Given the description of an element on the screen output the (x, y) to click on. 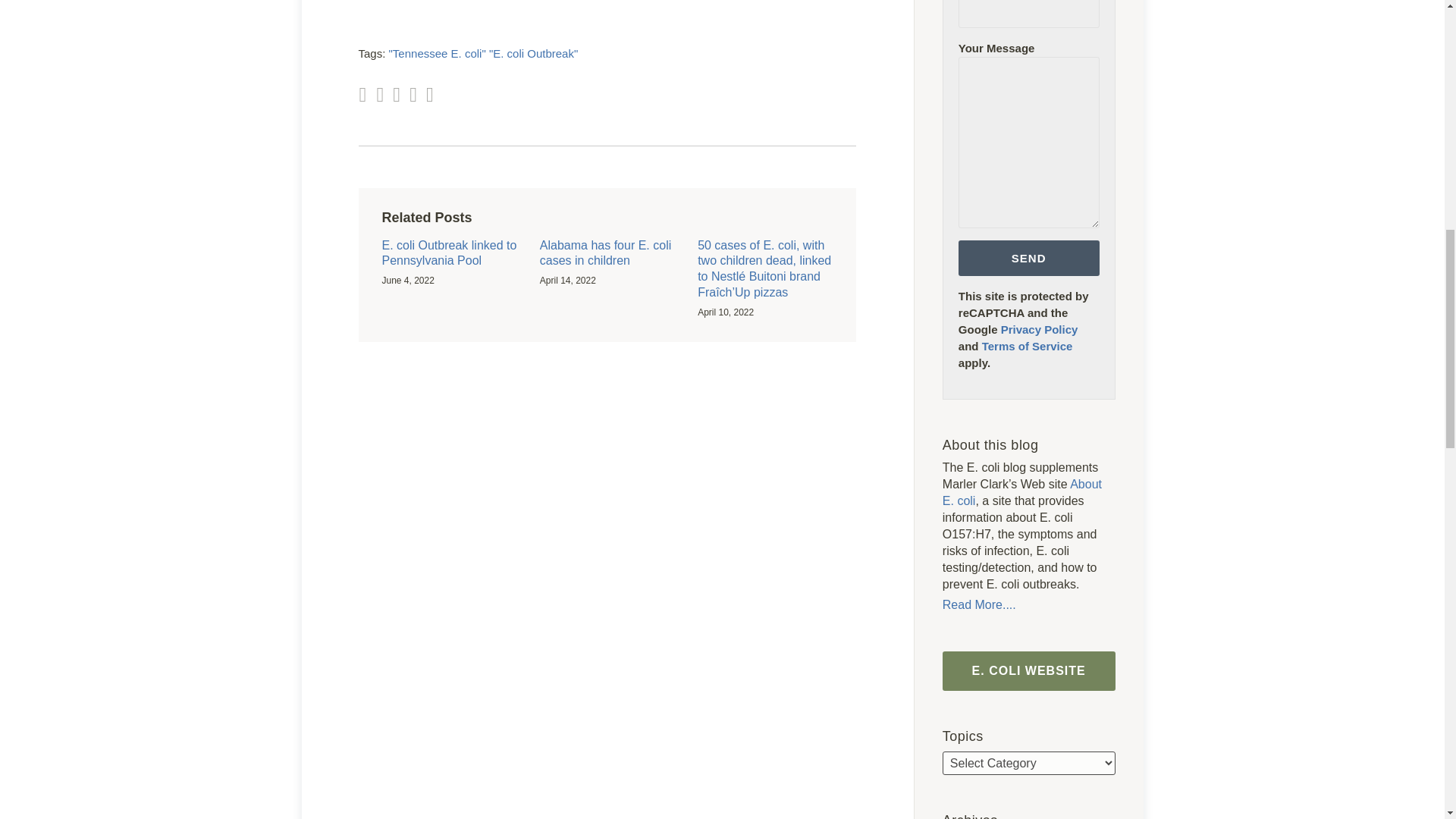
"Tennessee E. coli" "E. coli Outbreak" (483, 52)
Read More.... (1028, 605)
Send (1028, 258)
Privacy Policy (1039, 328)
E. coli Outbreak linked to Pennsylvania Pool (448, 254)
About E. coli (1022, 491)
Alabama has four E. coli cases in children (607, 254)
Terms of Service (1027, 345)
Send (1028, 258)
E. COLI WEBSITE (1028, 671)
